Given the description of an element on the screen output the (x, y) to click on. 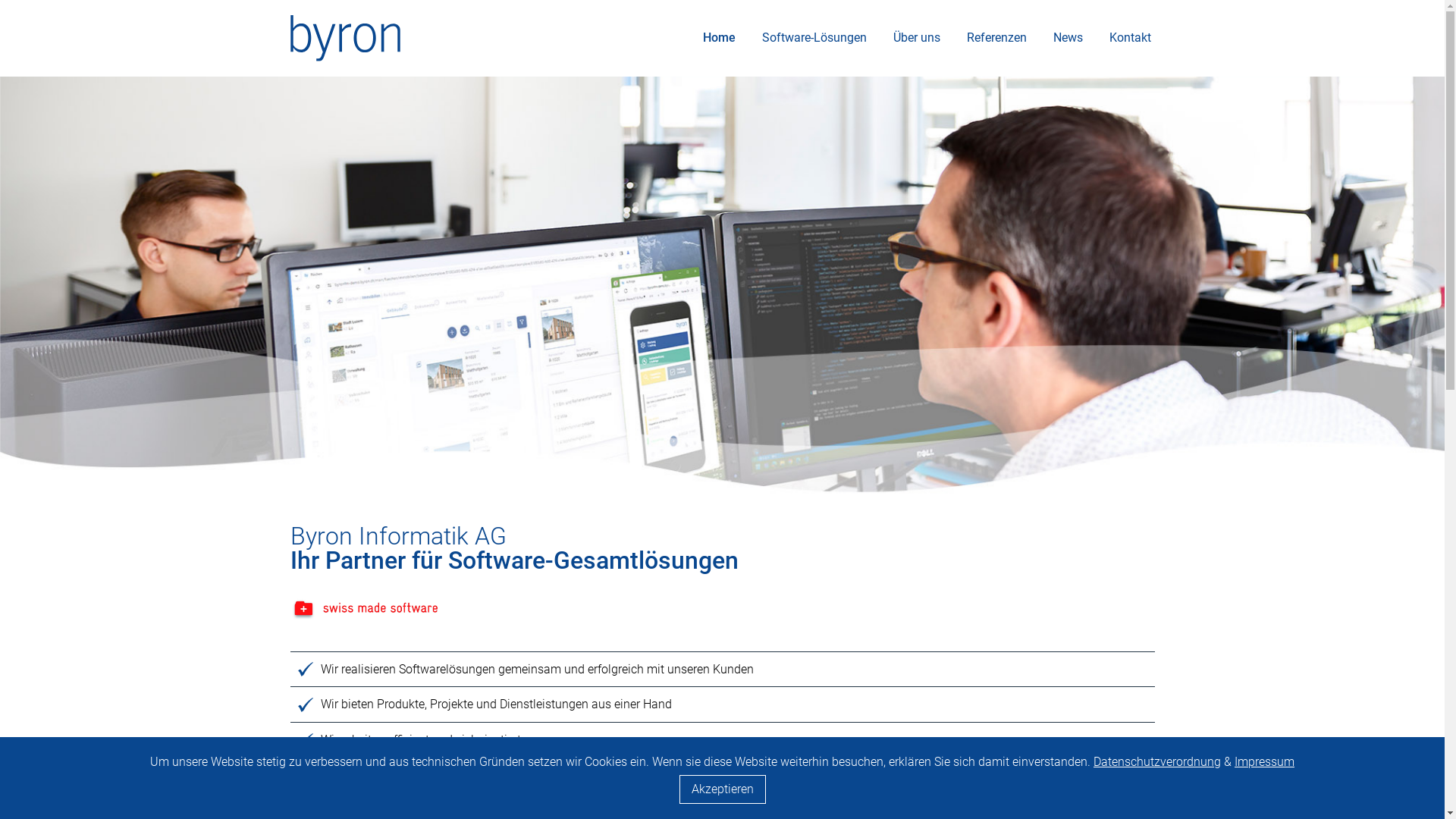
News Element type: text (1067, 37)
Home Element type: text (719, 37)
Kontakt Element type: text (1129, 37)
Datenschutzverordnung Element type: text (1156, 761)
Home Element type: hover (344, 36)
Impressum Element type: text (1264, 761)
Referenzen Element type: text (996, 37)
